Given the description of an element on the screen output the (x, y) to click on. 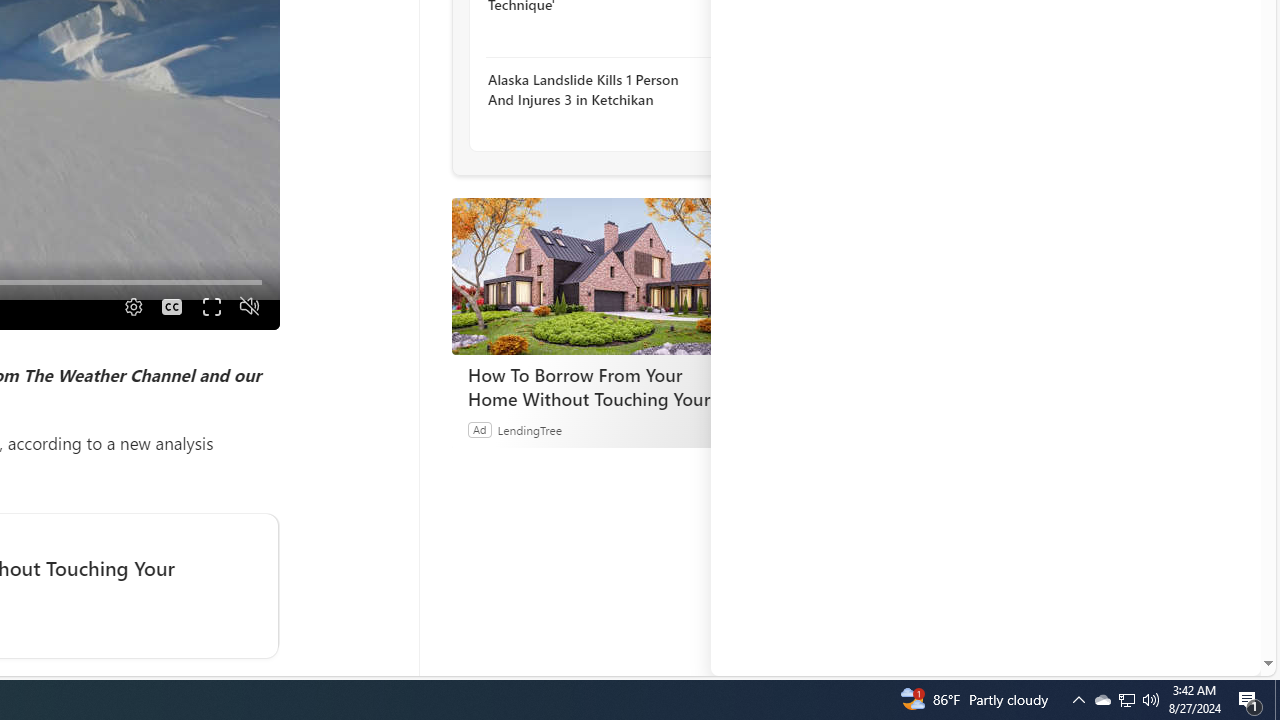
Unmute (249, 306)
Fullscreen (210, 306)
How To Borrow From Your Home Without Touching Your Mortgage (601, 276)
LendingTree (528, 429)
Quality Settings (131, 306)
How To Borrow From Your Home Without Touching Your Mortgage (601, 386)
Ad (479, 429)
Alaska Landslide Kills 1 Person And Injures 3 in Ketchikan (596, 89)
Captions (171, 306)
Feedback (1185, 659)
